Given the description of an element on the screen output the (x, y) to click on. 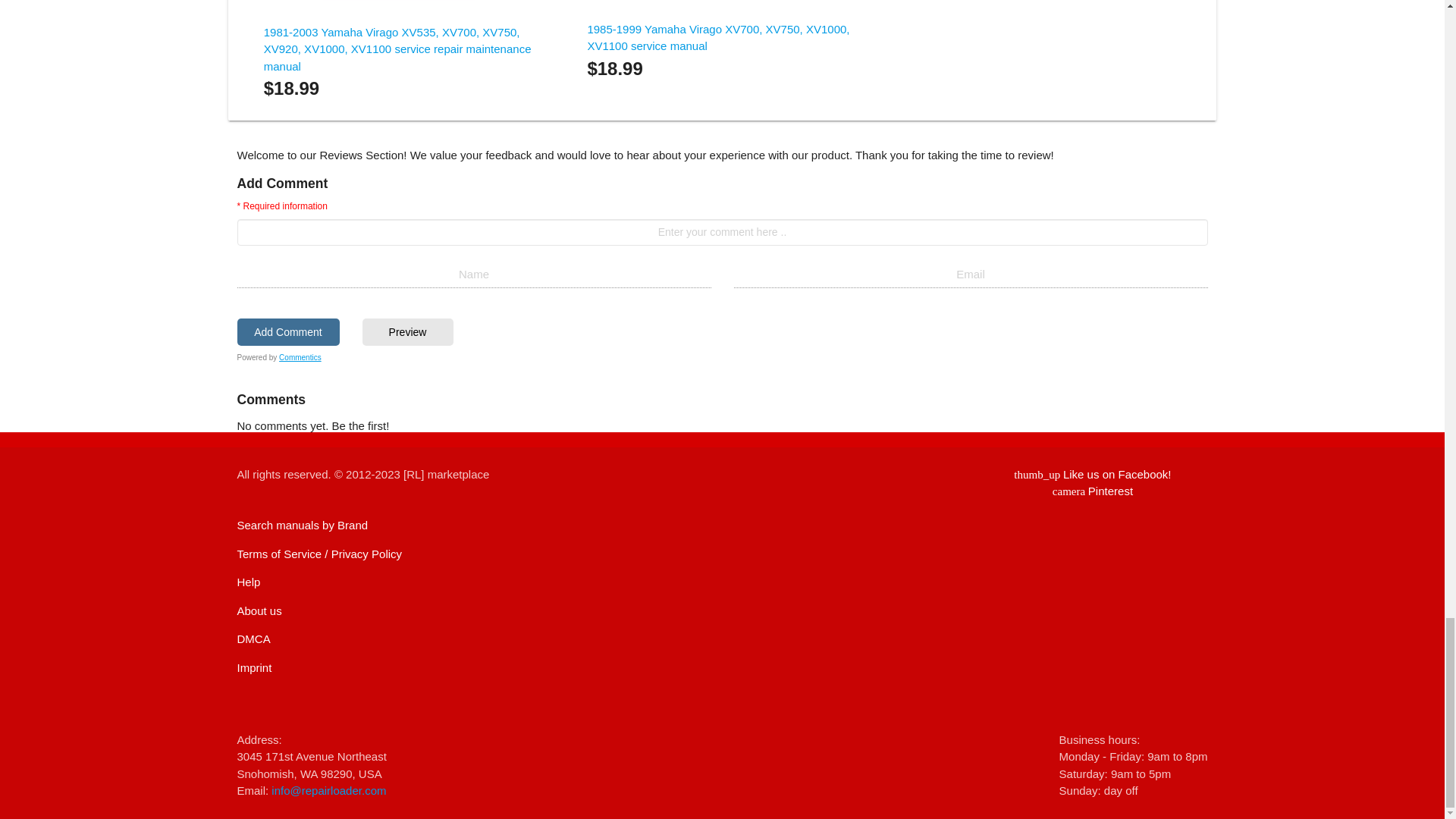
Commentics (300, 356)
Add Comment (287, 331)
About us (258, 610)
Imprint (1091, 491)
Help (252, 667)
Search manuals by Brand (247, 581)
Preview (301, 524)
DMCA (407, 331)
